Given the description of an element on the screen output the (x, y) to click on. 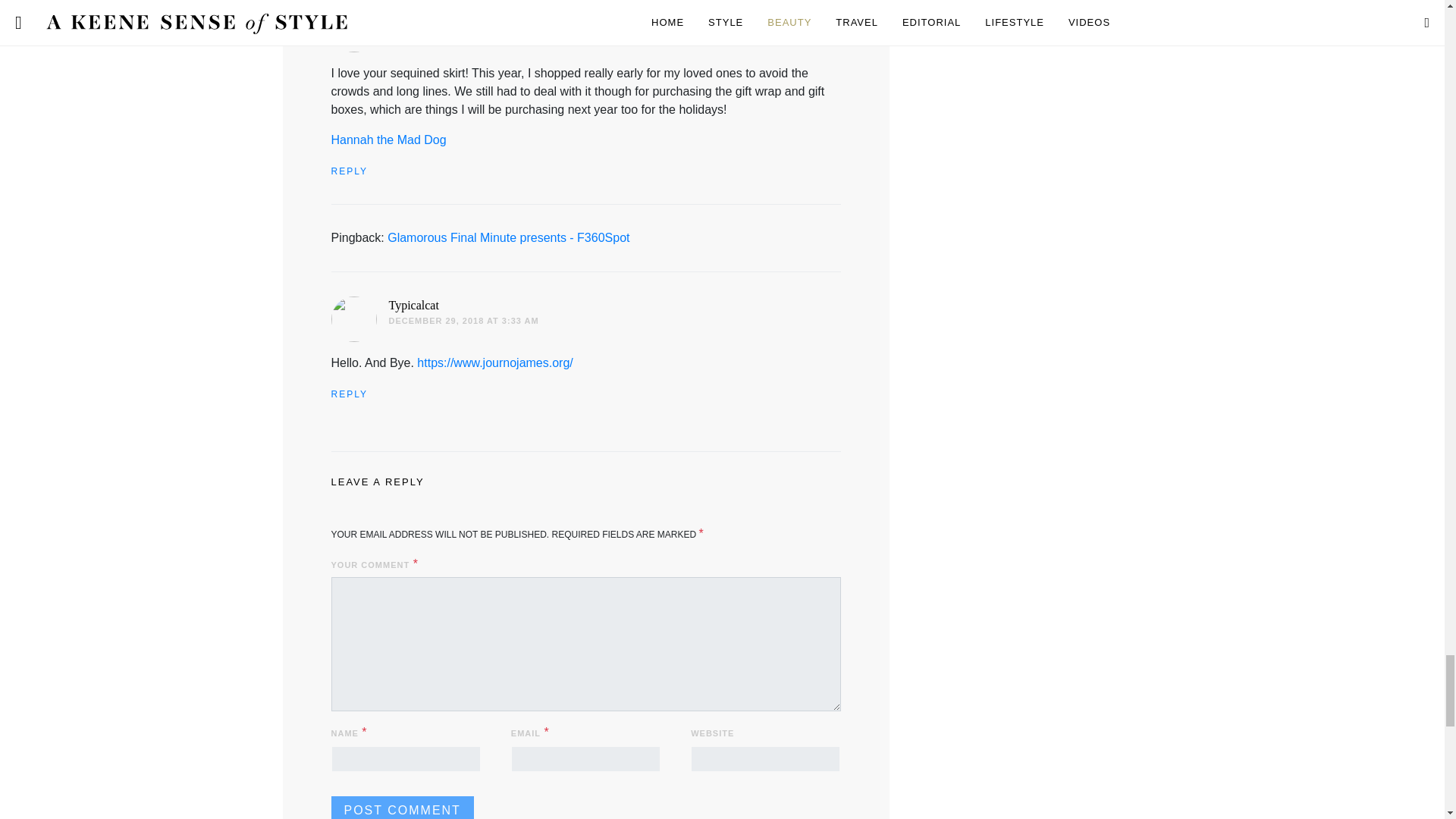
Post Comment (401, 807)
